Given the description of an element on the screen output the (x, y) to click on. 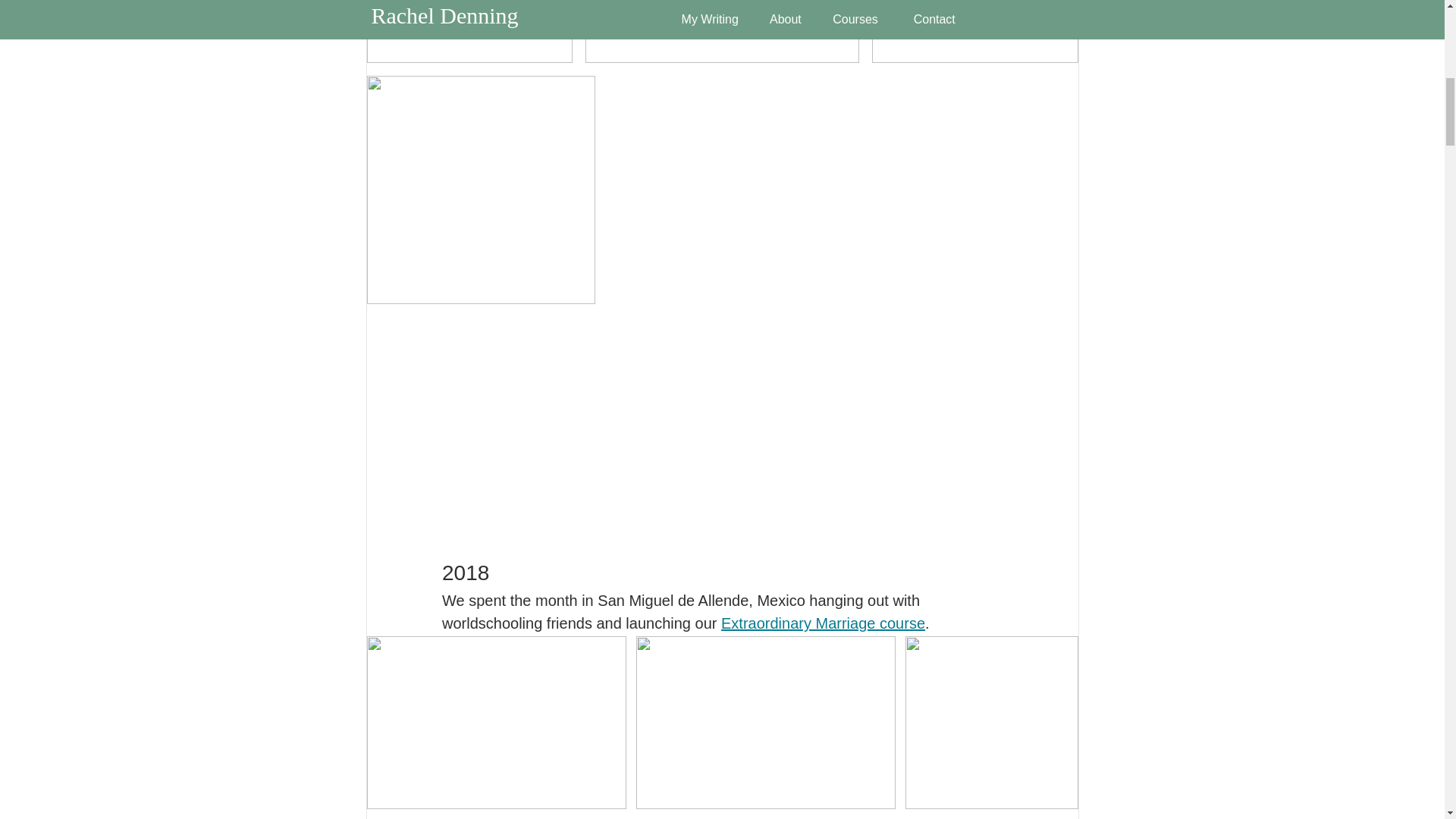
Extraordinary Marriage course (822, 623)
